Given the description of an element on the screen output the (x, y) to click on. 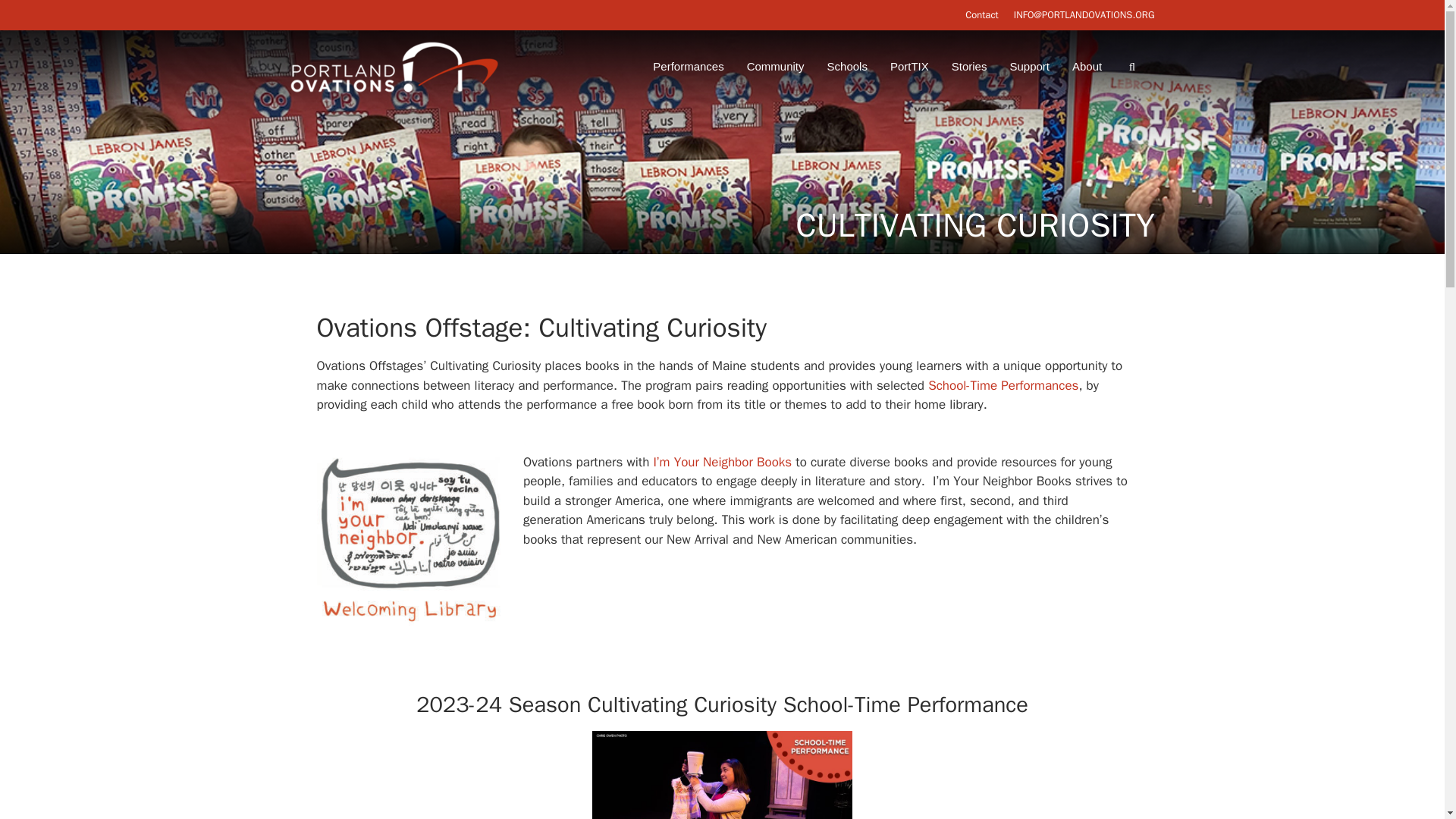
Contact (981, 14)
Portland Ovations (397, 65)
Schools (843, 66)
Performances (683, 66)
Community (772, 66)
PortTIX (905, 66)
Portland Ovations (393, 65)
Stories (965, 66)
Support (1025, 66)
